Given the description of an element on the screen output the (x, y) to click on. 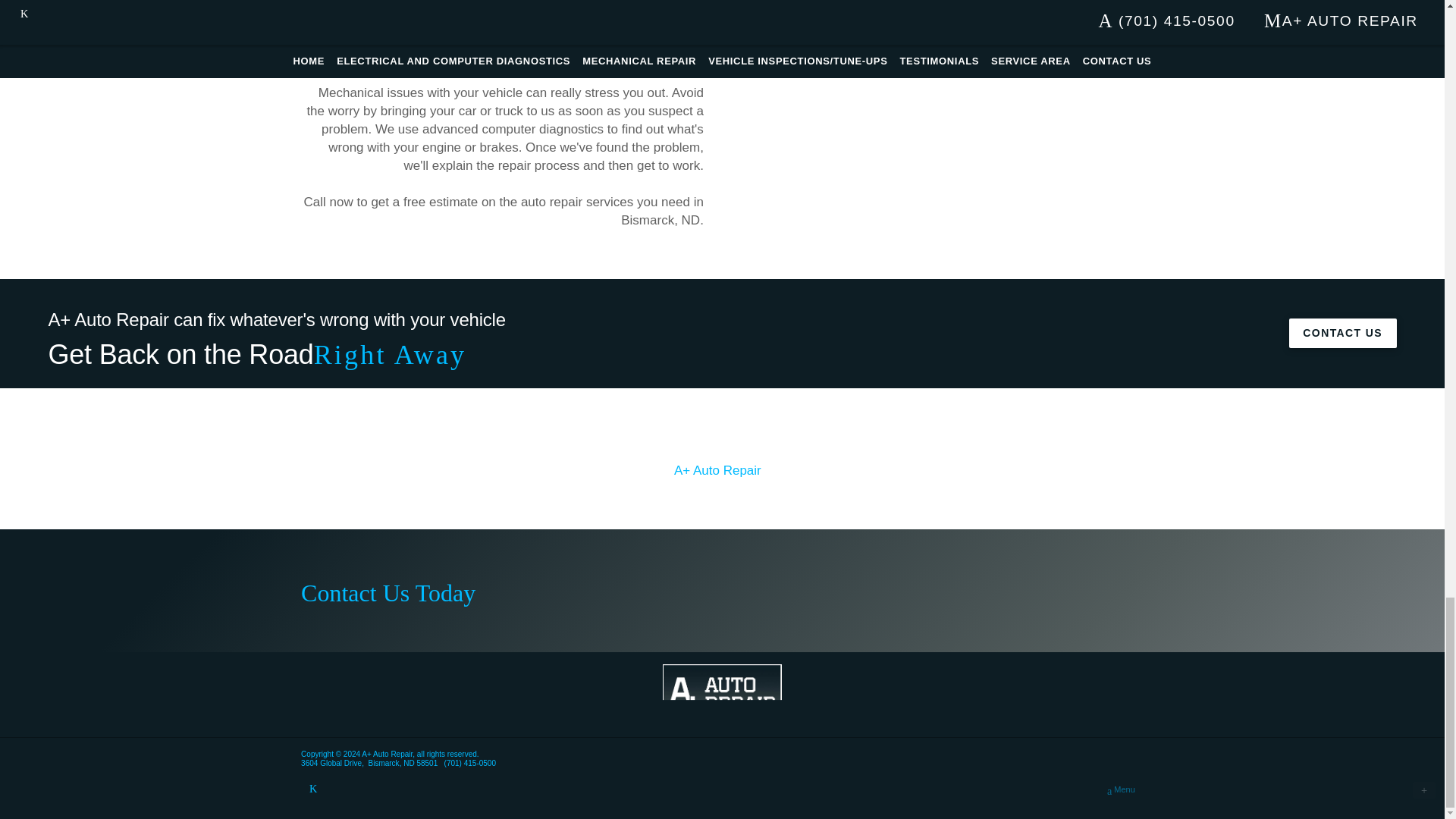
Menu (1120, 790)
Open Menu (1120, 790)
Facebook (312, 788)
